Given the description of an element on the screen output the (x, y) to click on. 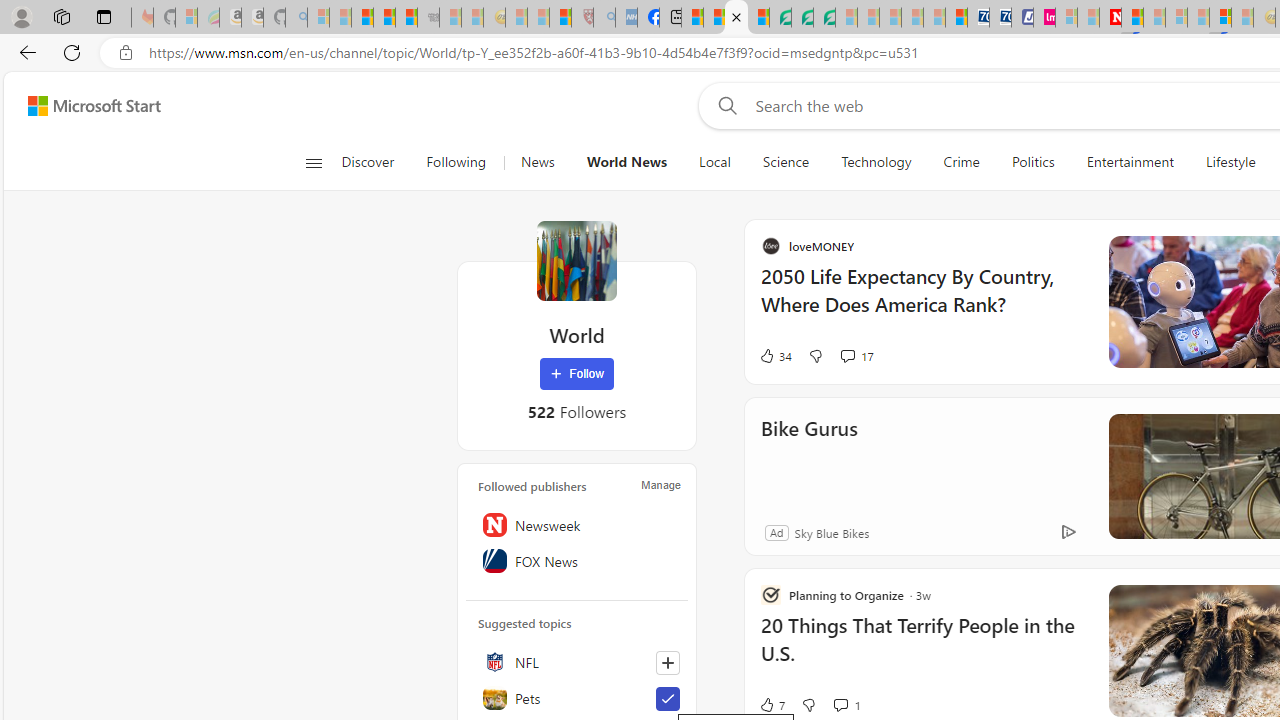
Microsoft Word - consumer-privacy address update 2.2021 (824, 17)
